Given the description of an element on the screen output the (x, y) to click on. 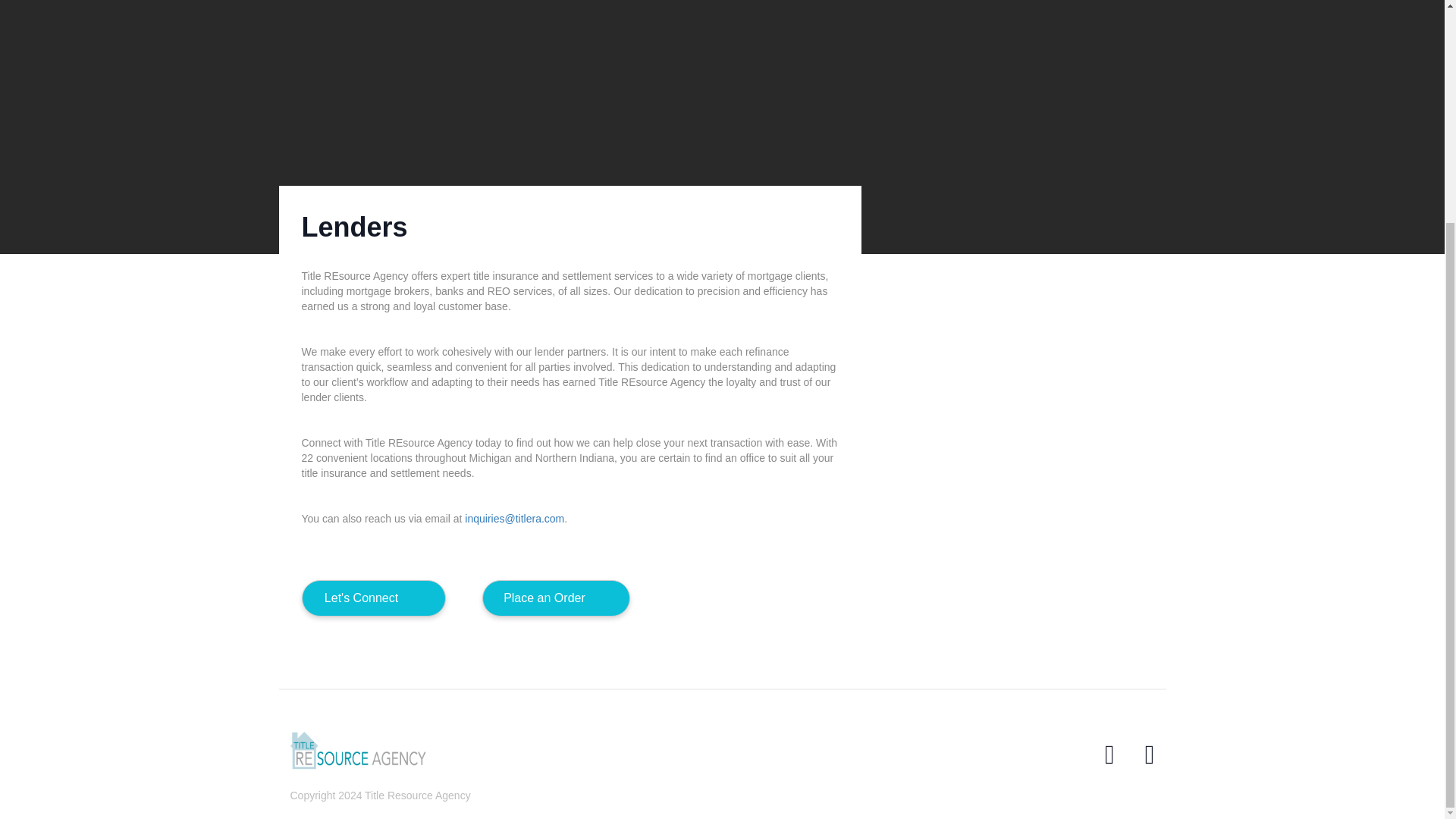
Let's Connect (373, 597)
Place an Order (555, 597)
Title Resource Agency (363, 750)
